Given the description of an element on the screen output the (x, y) to click on. 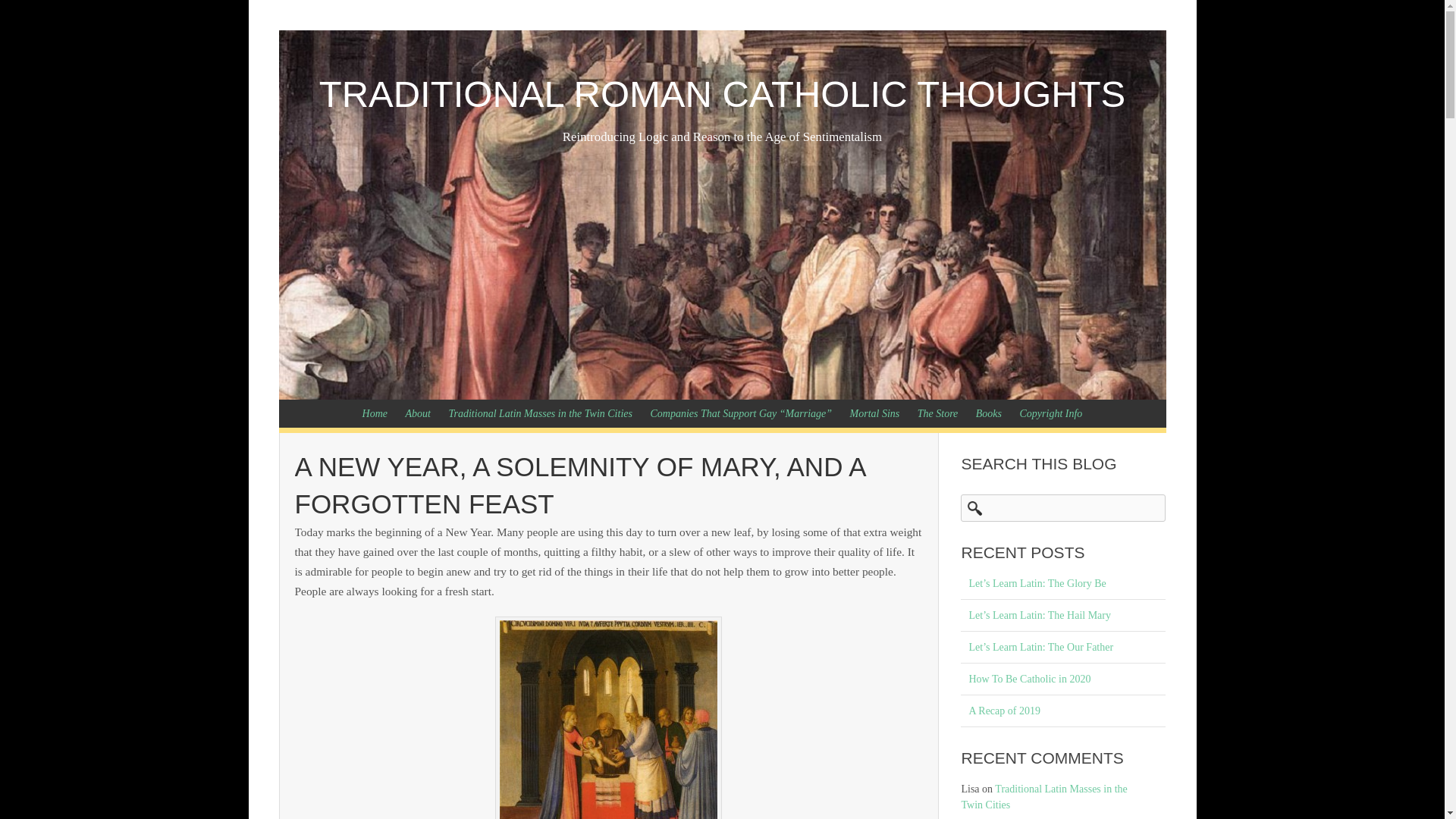
Home (374, 413)
Traditional Roman Catholic Thoughts (721, 93)
Search (24, 13)
Books (988, 413)
Traditional Latin Masses in the Twin Cities (1043, 796)
Traditional Latin Masses in the Twin Cities (540, 413)
How To Be Catholic in 2020 (1063, 679)
Copyright Info (1050, 413)
A NEW YEAR, A SOLEMNITY OF MARY, AND A FORGOTTEN FEAST (579, 485)
About (417, 413)
TRADITIONAL ROMAN CATHOLIC THOUGHTS (721, 93)
The Store (938, 413)
A Recap of 2019 (1063, 711)
Mortal Sins (875, 413)
